Given the description of an element on the screen output the (x, y) to click on. 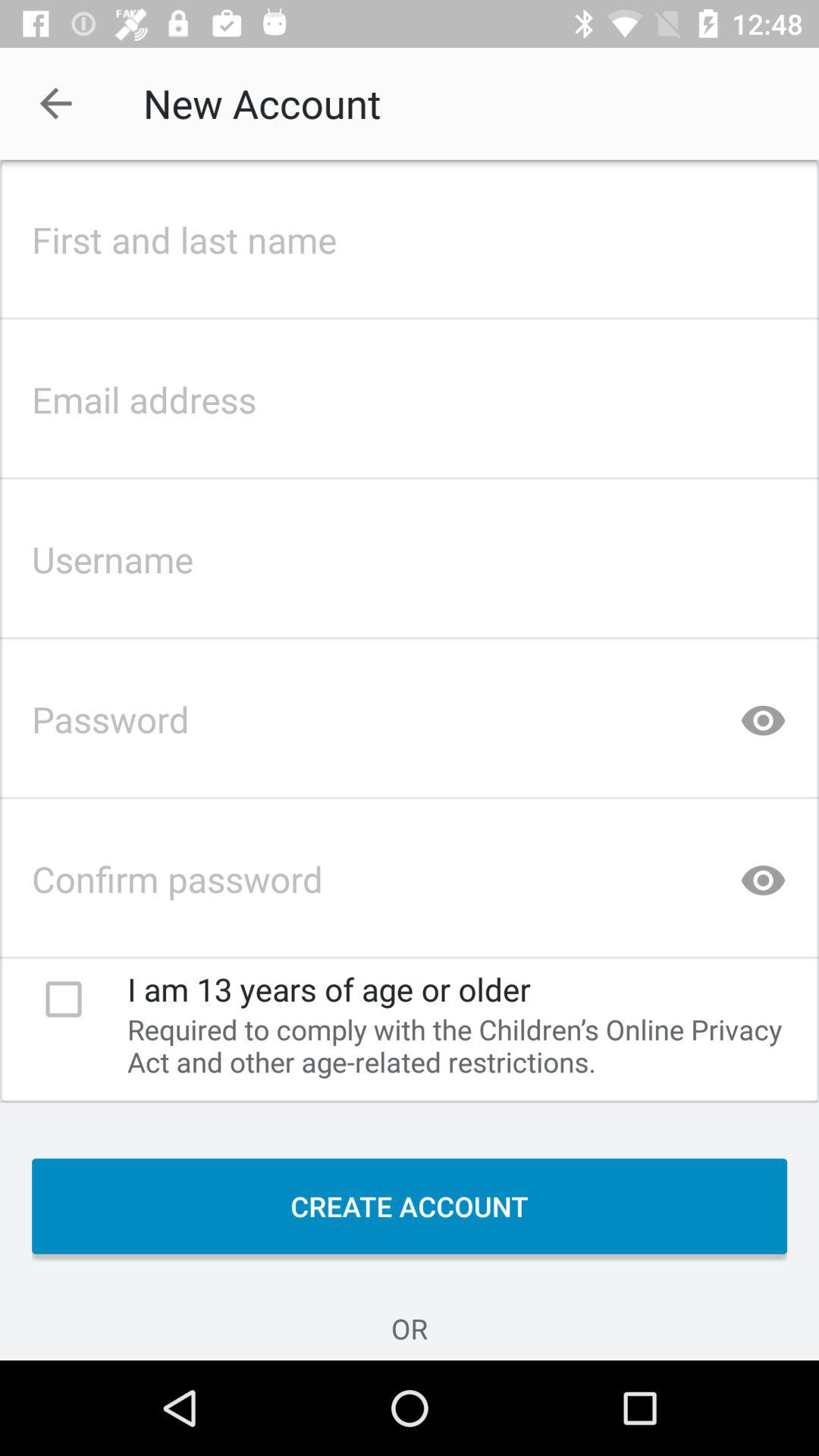
first and last name bar (409, 235)
